Given the description of an element on the screen output the (x, y) to click on. 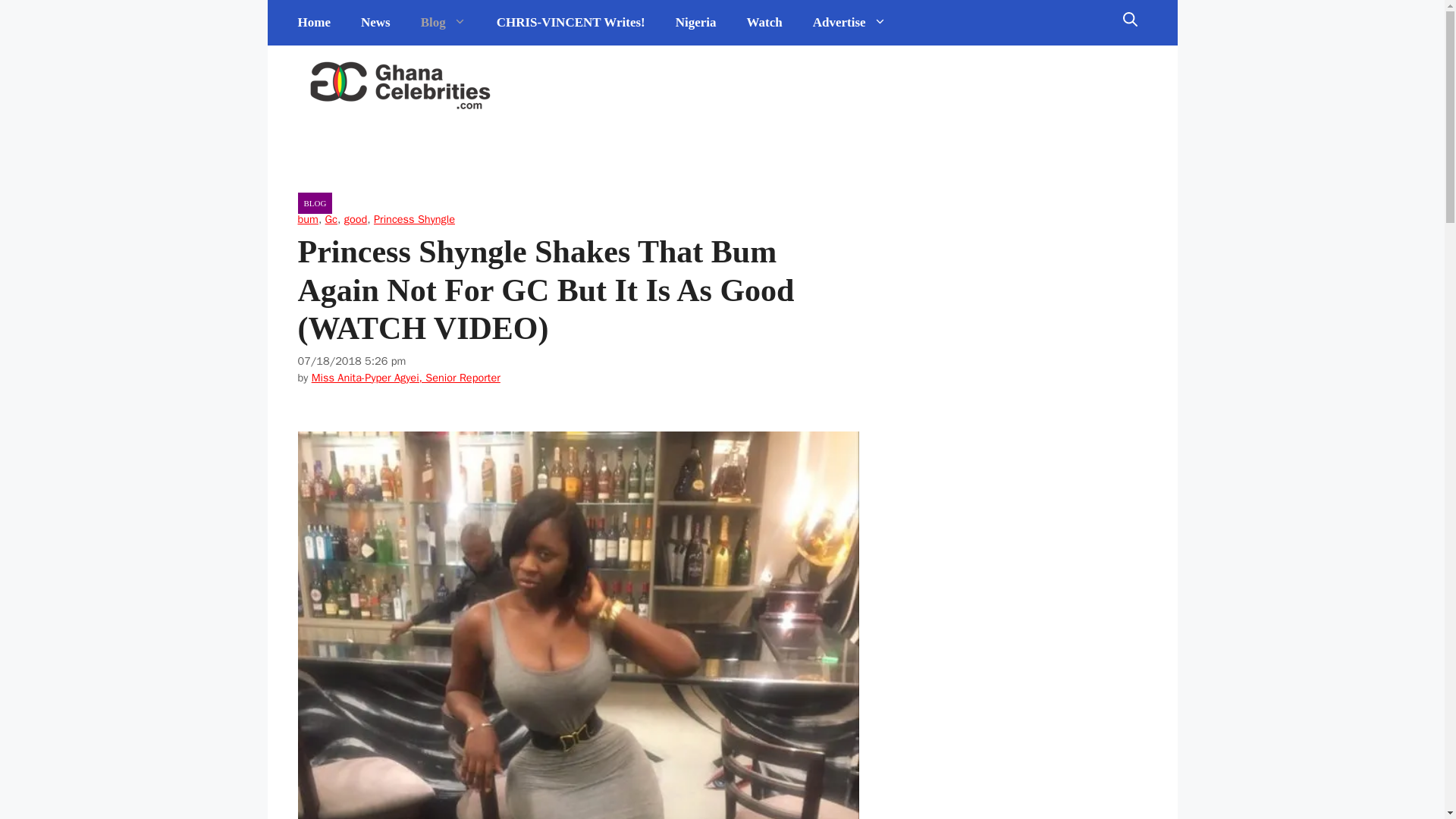
News (376, 22)
Advertise (849, 22)
Watch (764, 22)
View all posts by Miss Anita-Pyper Agyei, Senior Reporter (405, 377)
GhanaCelebrities.Com (400, 86)
Blog (443, 22)
Home (313, 22)
CHRIS-VINCENT Writes! (571, 22)
Nigeria (696, 22)
